Given the description of an element on the screen output the (x, y) to click on. 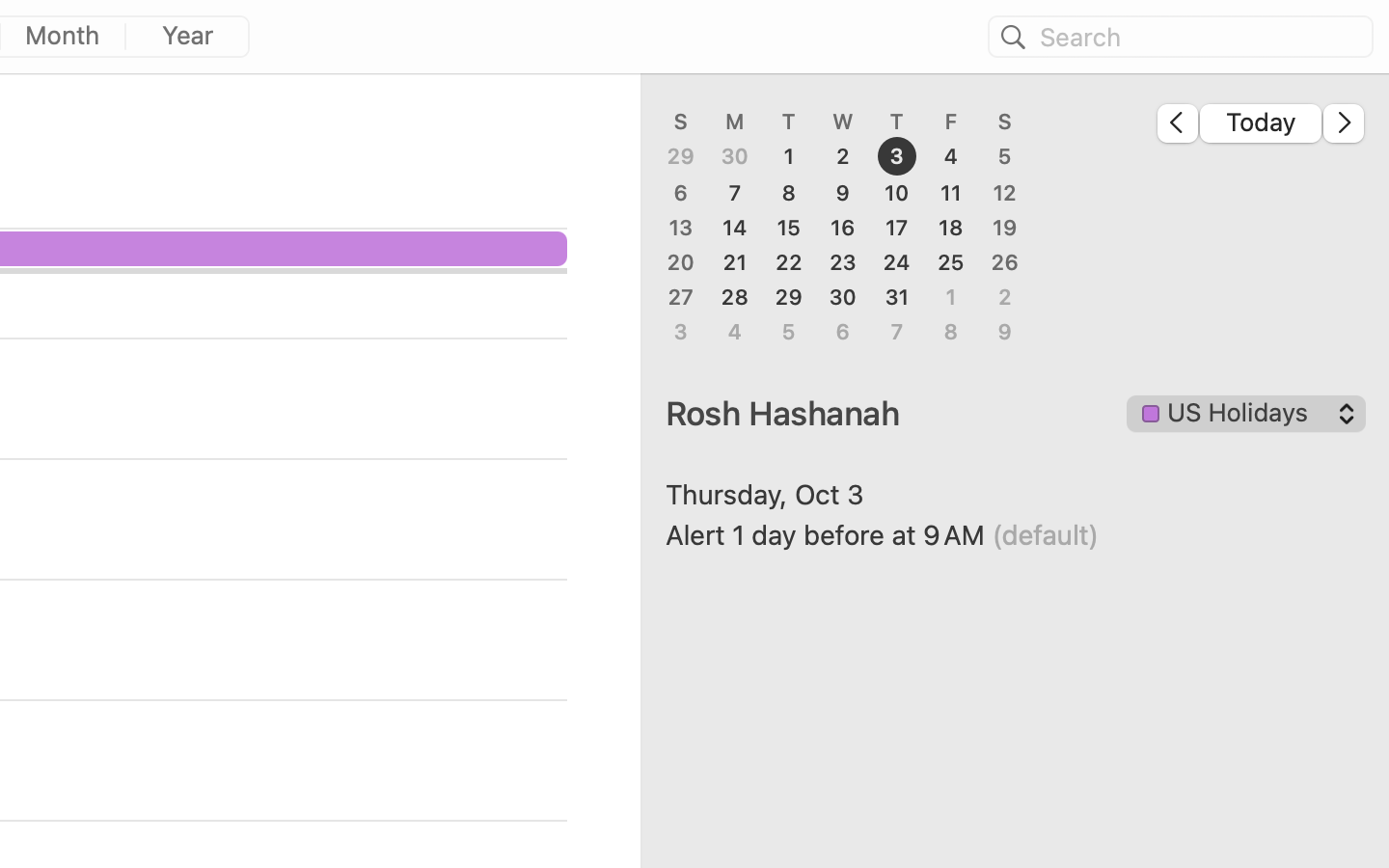
Rosh Hashanah Element type: AXStaticText (891, 412)
16 Element type: AXStaticText (843, 227)
26 Element type: AXStaticText (1005, 261)
19 Element type: AXStaticText (1005, 227)
